Given the description of an element on the screen output the (x, y) to click on. 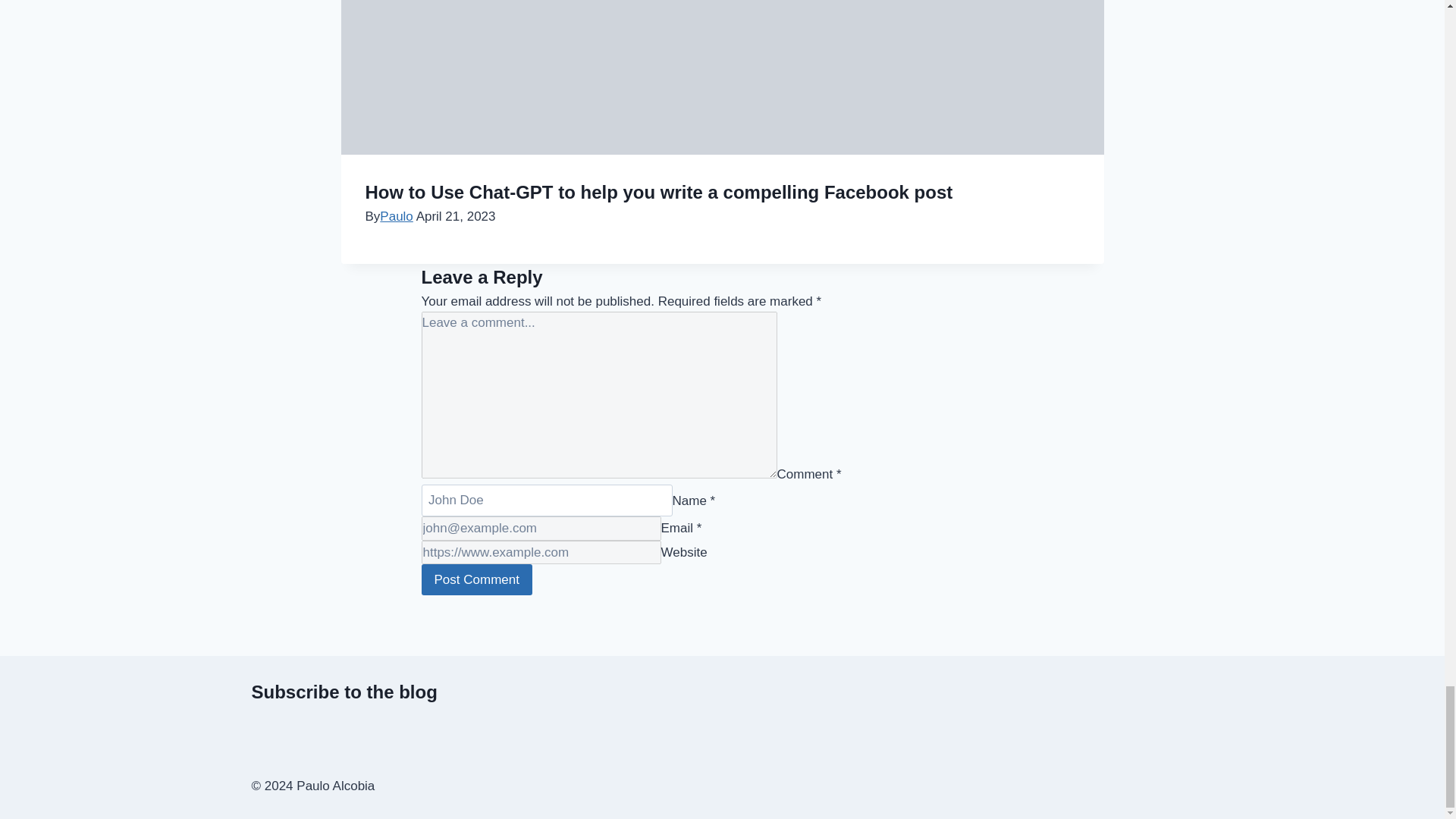
Post Comment (477, 579)
